Given the description of an element on the screen output the (x, y) to click on. 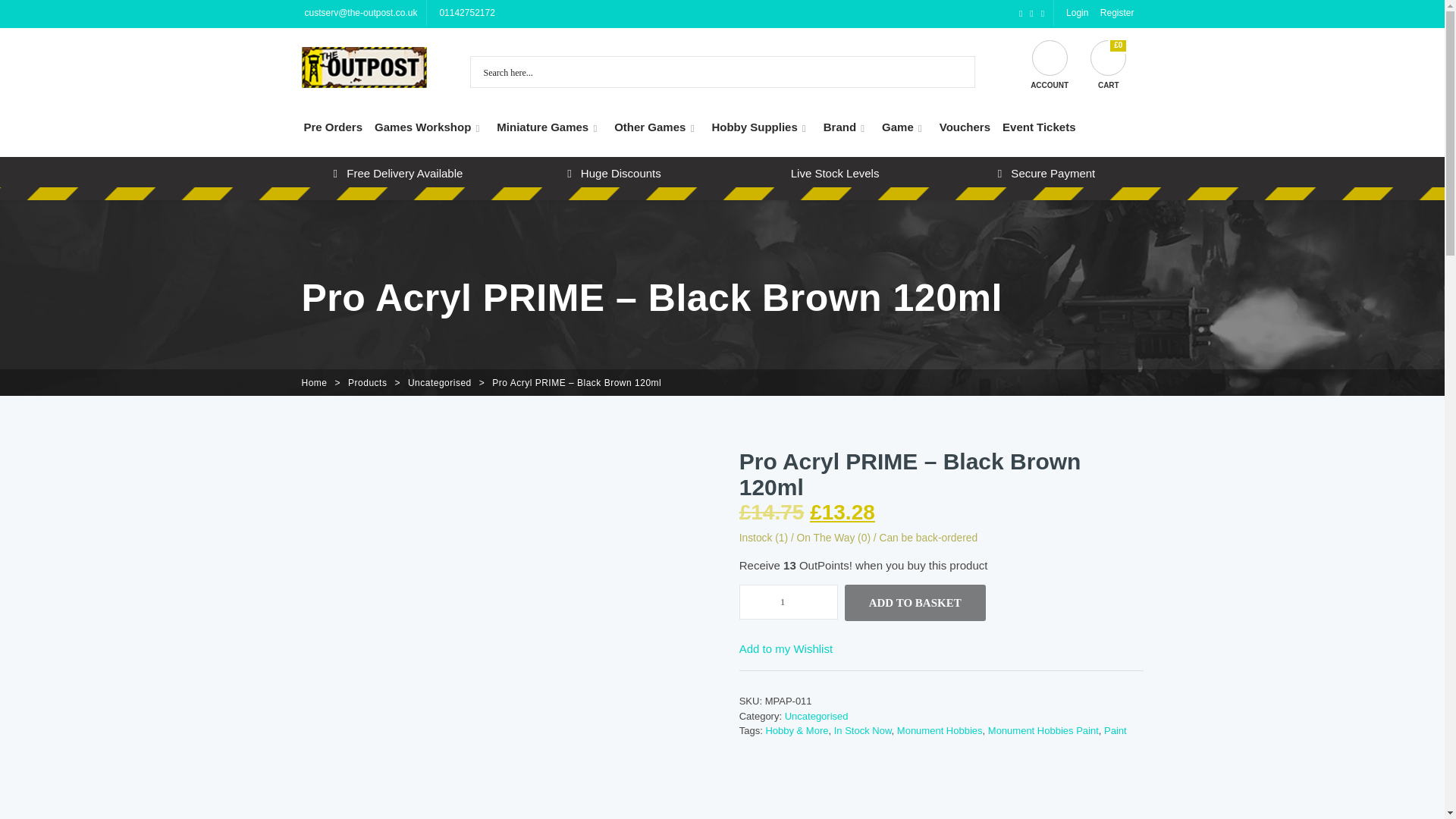
Register (1115, 12)
Pre Orders (332, 126)
1 (788, 601)
Games Workshop (429, 126)
01142752172 (464, 12)
Login (1074, 12)
Products (367, 382)
Uncategorised (439, 382)
Home (314, 382)
